Given the description of an element on the screen output the (x, y) to click on. 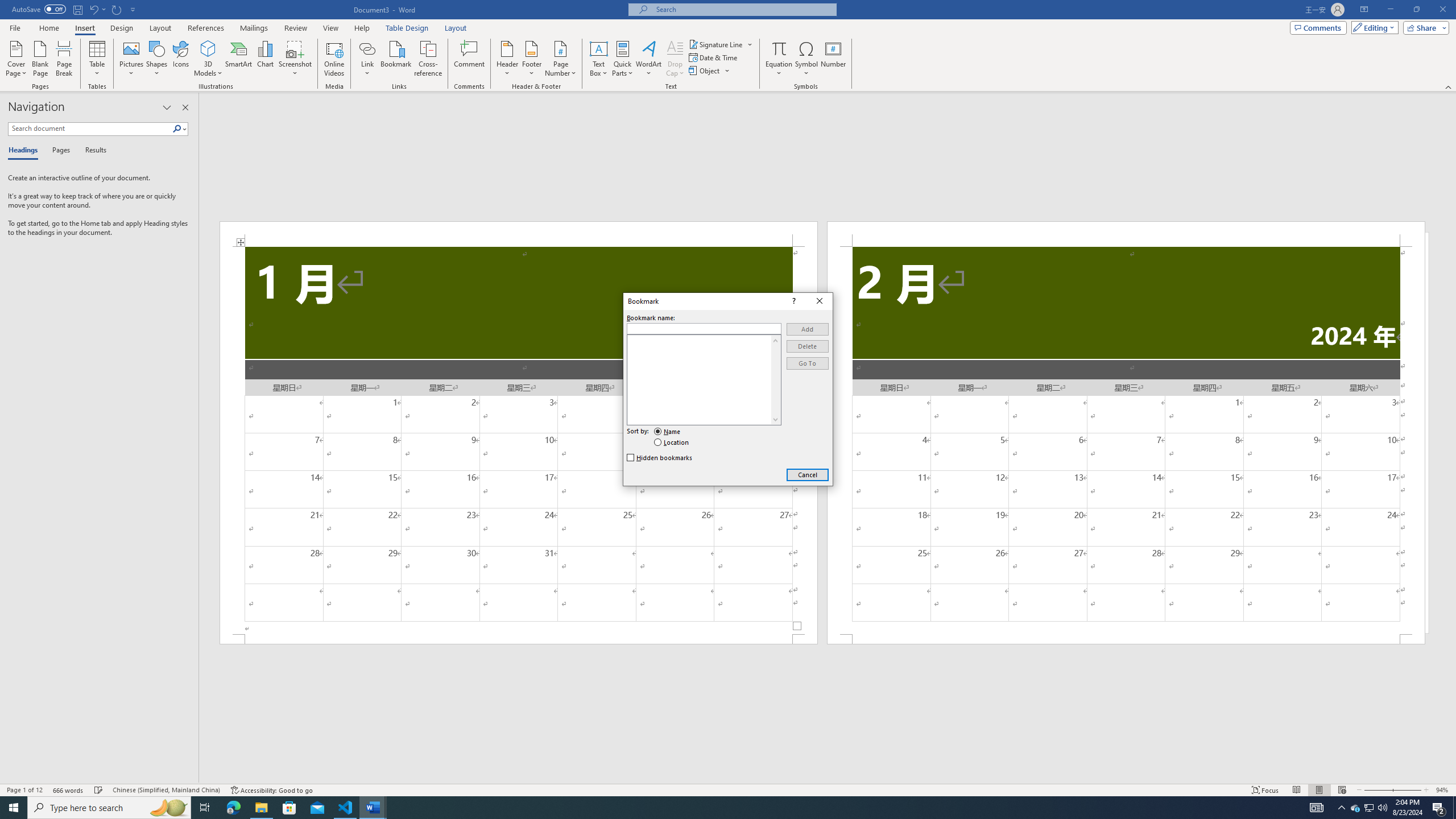
Spelling and Grammar Check Checking (98, 790)
Notification Chevron (1341, 807)
Accessibility Checker Accessibility: Good to go (271, 790)
Bookmark name: (1368, 807)
Task View (703, 328)
Header -Section 2- (204, 807)
Equation (1126, 233)
Task Pane Options (778, 48)
Table Design (167, 107)
